Given the description of an element on the screen output the (x, y) to click on. 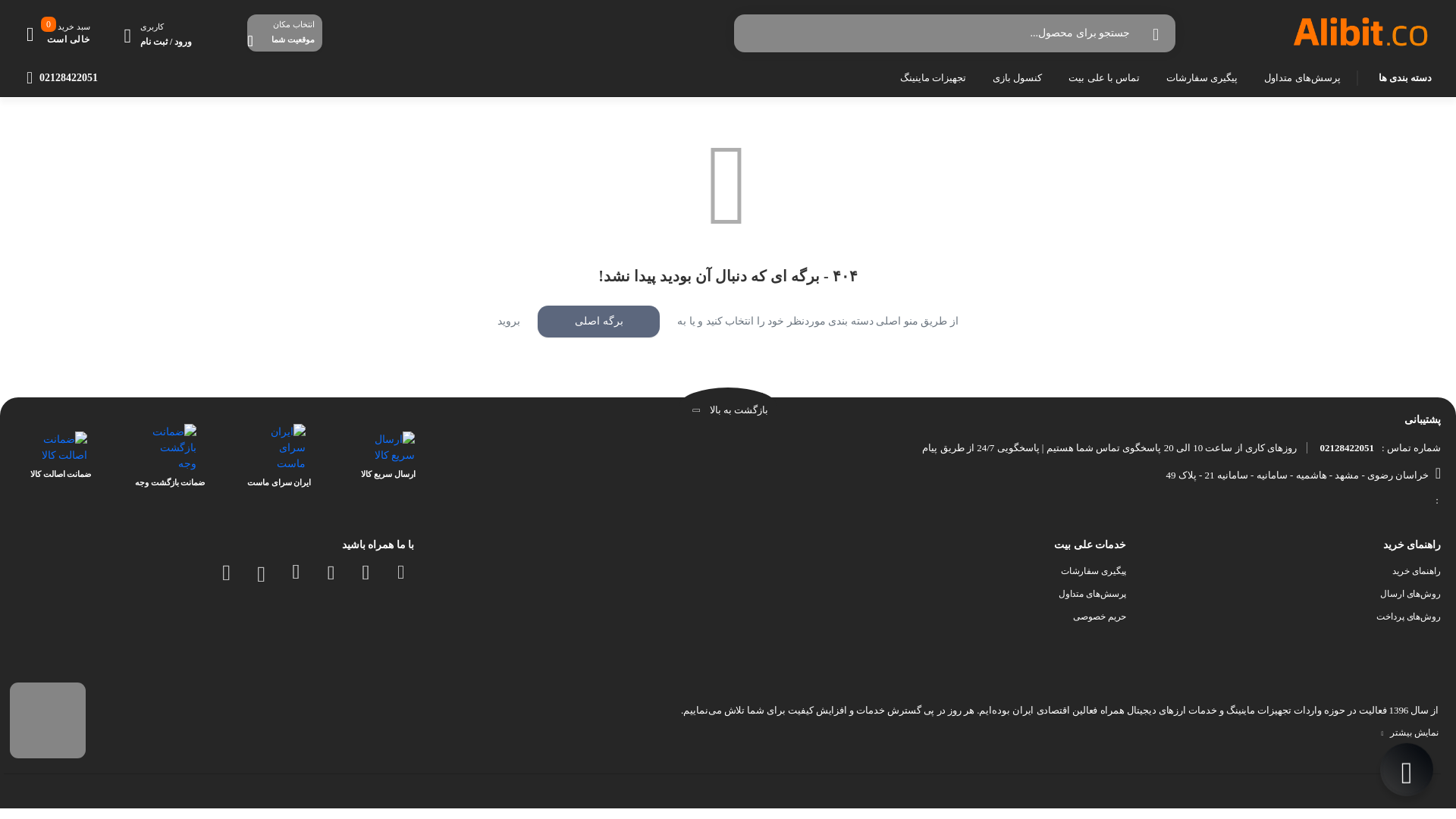
02128422051 (61, 77)
02128422051 (1346, 446)
